Given the description of an element on the screen output the (x, y) to click on. 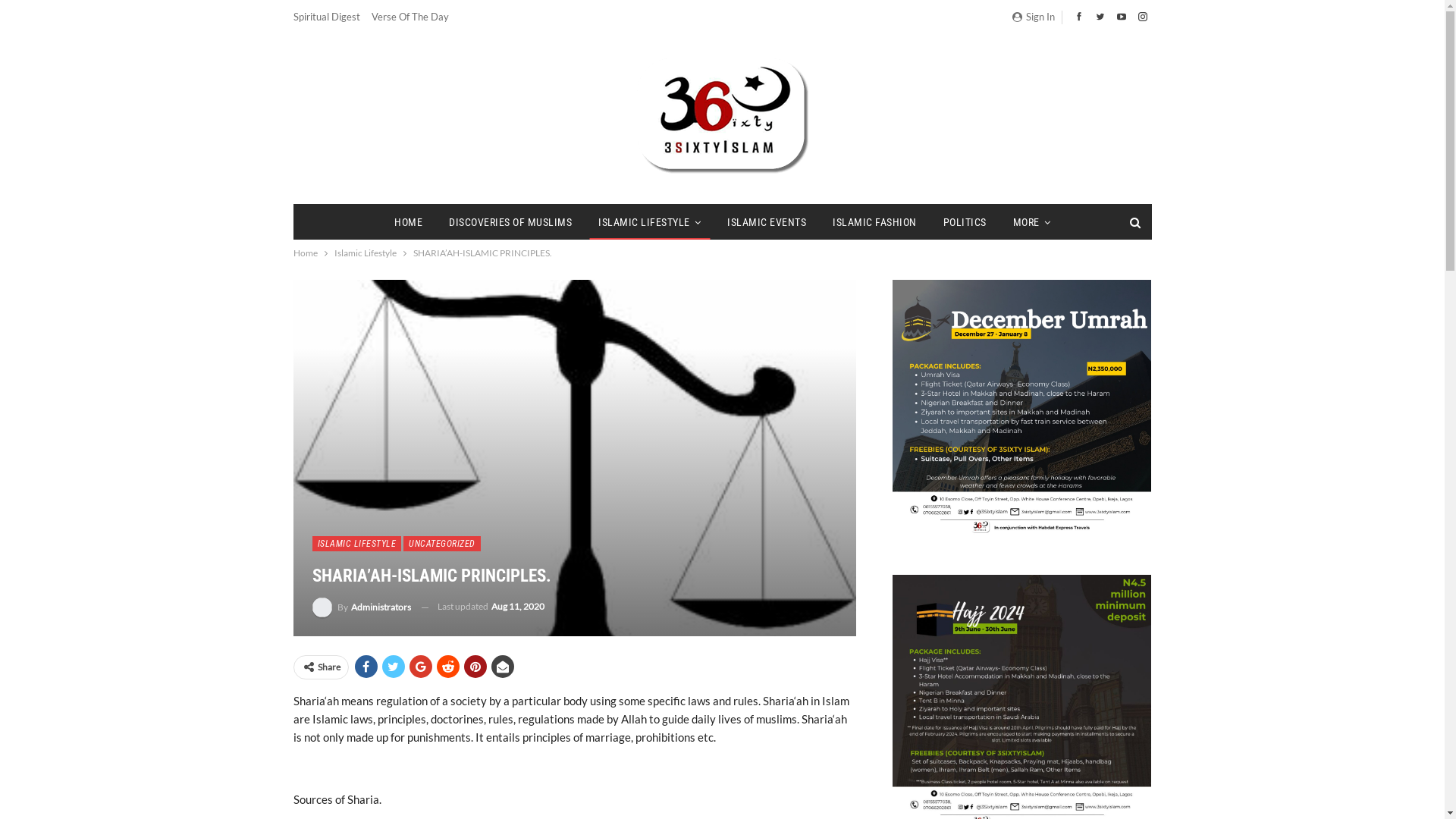
ISLAMIC EVENTS Element type: text (766, 221)
Verse Of The Day Element type: text (409, 16)
HOME Element type: text (408, 221)
Home Element type: text (304, 252)
Islamic Lifestyle Element type: text (364, 252)
Sign In Element type: text (1035, 16)
ISLAMIC LIFESTYLE Element type: text (649, 221)
UNCATEGORIZED Element type: text (441, 543)
ISLAMIC LIFESTYLE Element type: text (356, 543)
Spiritual Digest Element type: text (325, 16)
DISCOVERIES OF MUSLIMS Element type: text (509, 221)
ISLAMIC FASHION Element type: text (874, 221)
By Administrators Element type: text (361, 606)
MORE Element type: text (1032, 221)
POLITICS Element type: text (964, 221)
